Given the description of an element on the screen output the (x, y) to click on. 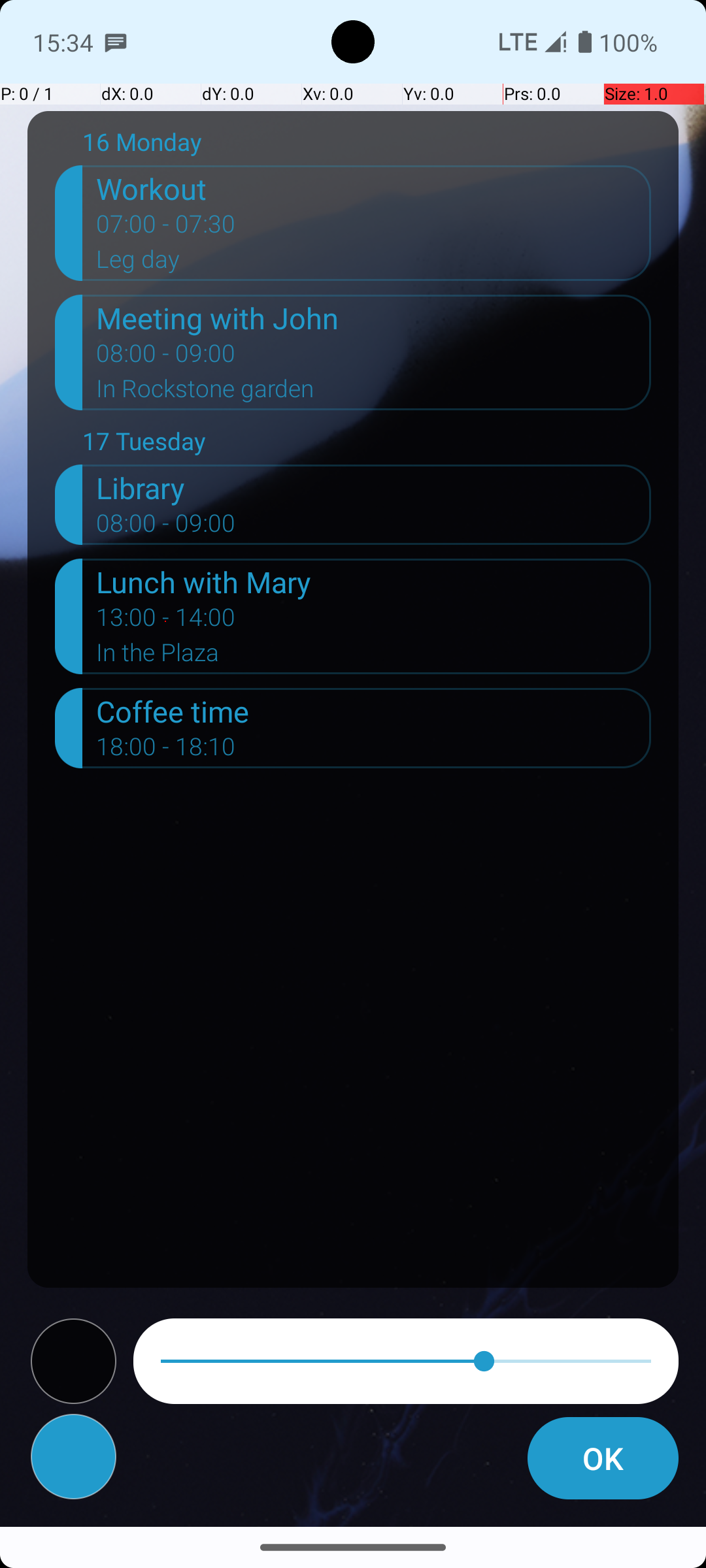
Workout Element type: android.widget.TextView (373, 187)
07:00 - 07:30 Element type: android.widget.TextView (165, 227)
Leg day Element type: android.widget.TextView (373, 262)
Meeting with John Element type: android.widget.TextView (373, 316)
08:00 - 09:00 Element type: android.widget.TextView (165, 357)
In Rockstone garden Element type: android.widget.TextView (373, 392)
Lunch with Mary Element type: android.widget.TextView (373, 580)
13:00 - 14:00 Element type: android.widget.TextView (165, 620)
In the Plaza Element type: android.widget.TextView (373, 656)
Coffee time Element type: android.widget.TextView (373, 710)
18:00 - 18:10 Element type: android.widget.TextView (165, 750)
